Given the description of an element on the screen output the (x, y) to click on. 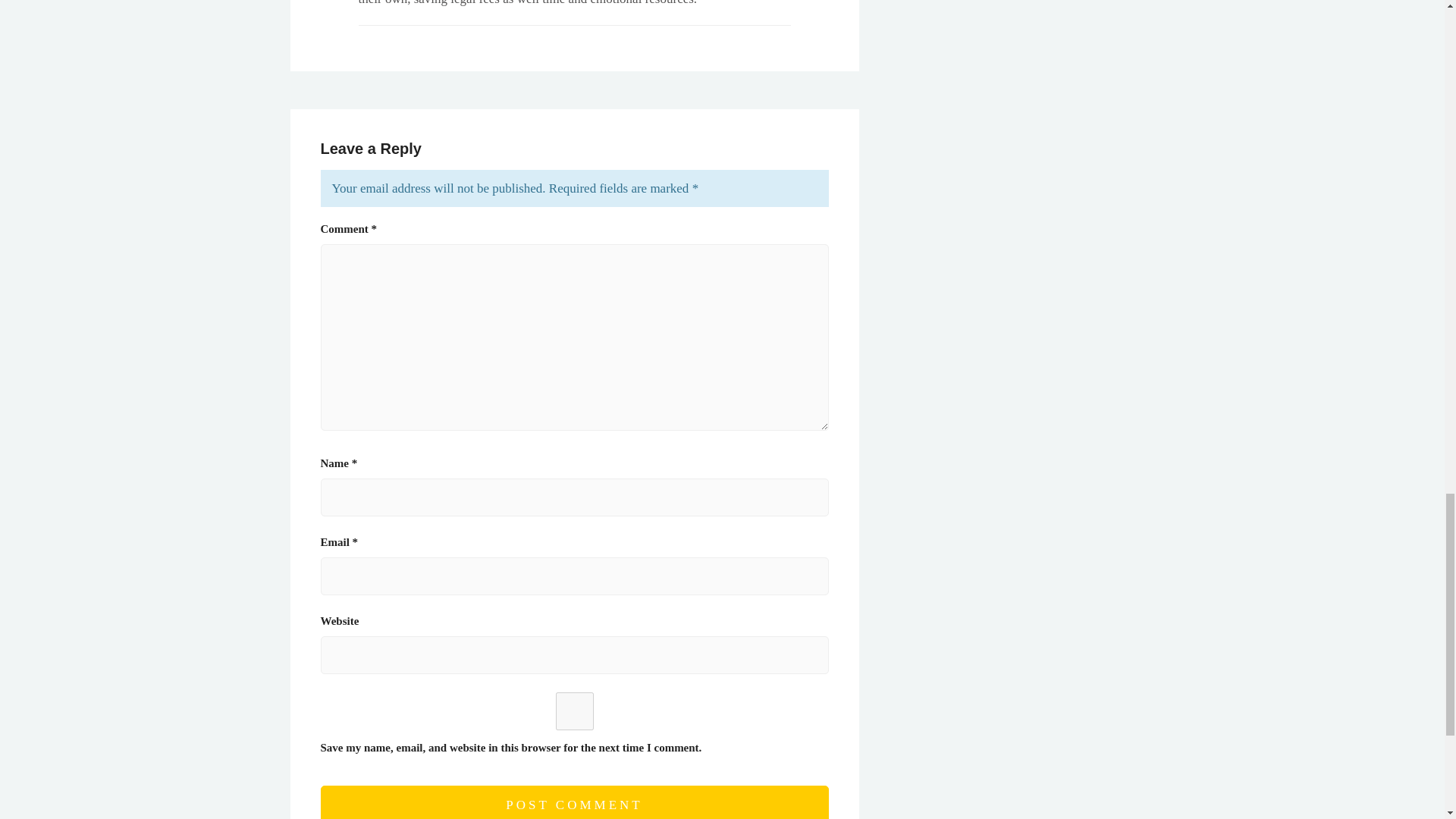
Post Comment (574, 802)
Post Comment (574, 802)
yes (574, 711)
